Given the description of an element on the screen output the (x, y) to click on. 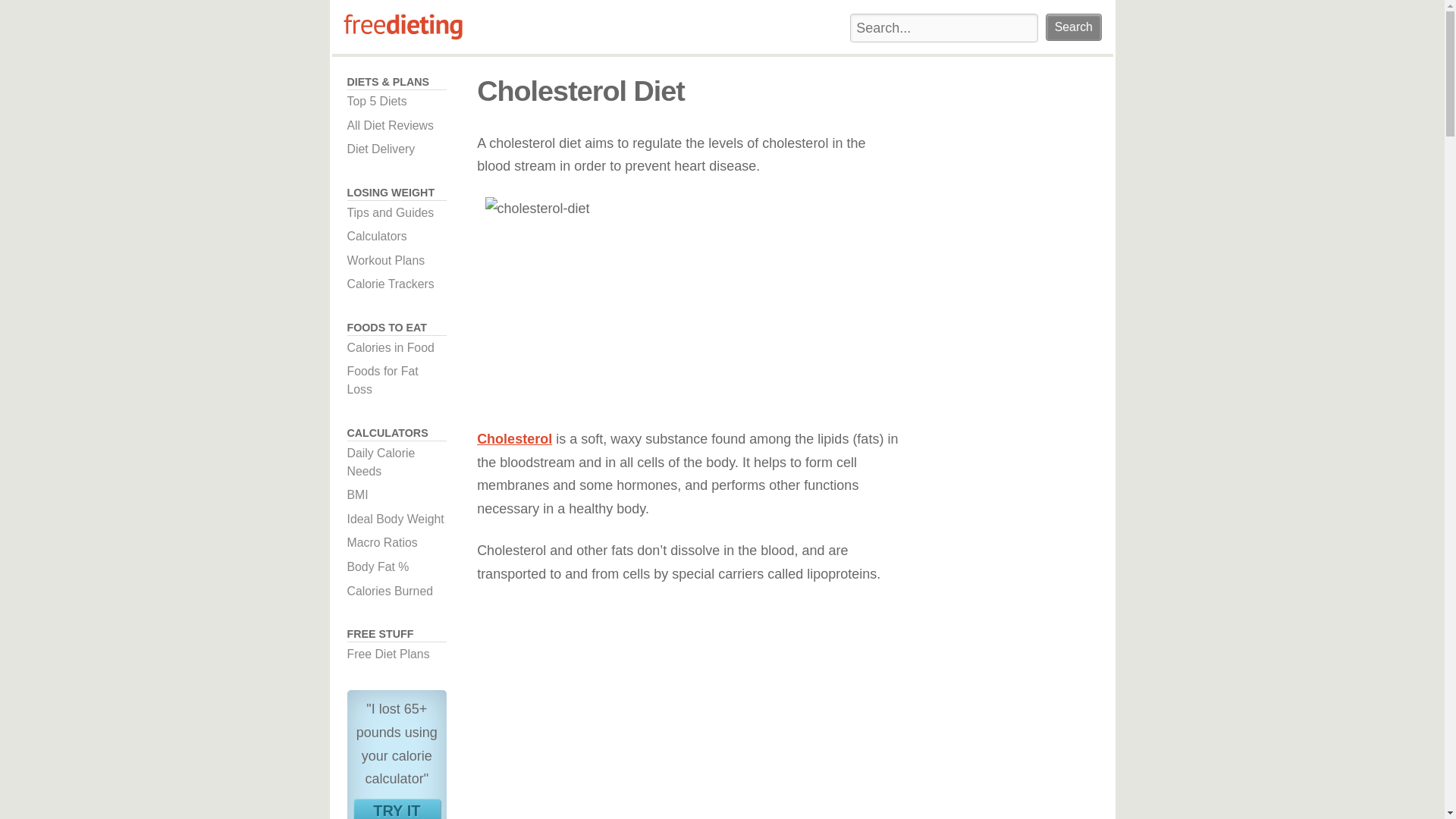
Ideal Body Weight (396, 519)
Diet Delivery (397, 808)
Free Diet Plans (396, 149)
Search (396, 654)
BMI (1072, 26)
Workout Plans (396, 495)
Search (396, 260)
Top 5 Diets (1072, 26)
Cholesterol (396, 101)
